Given the description of an element on the screen output the (x, y) to click on. 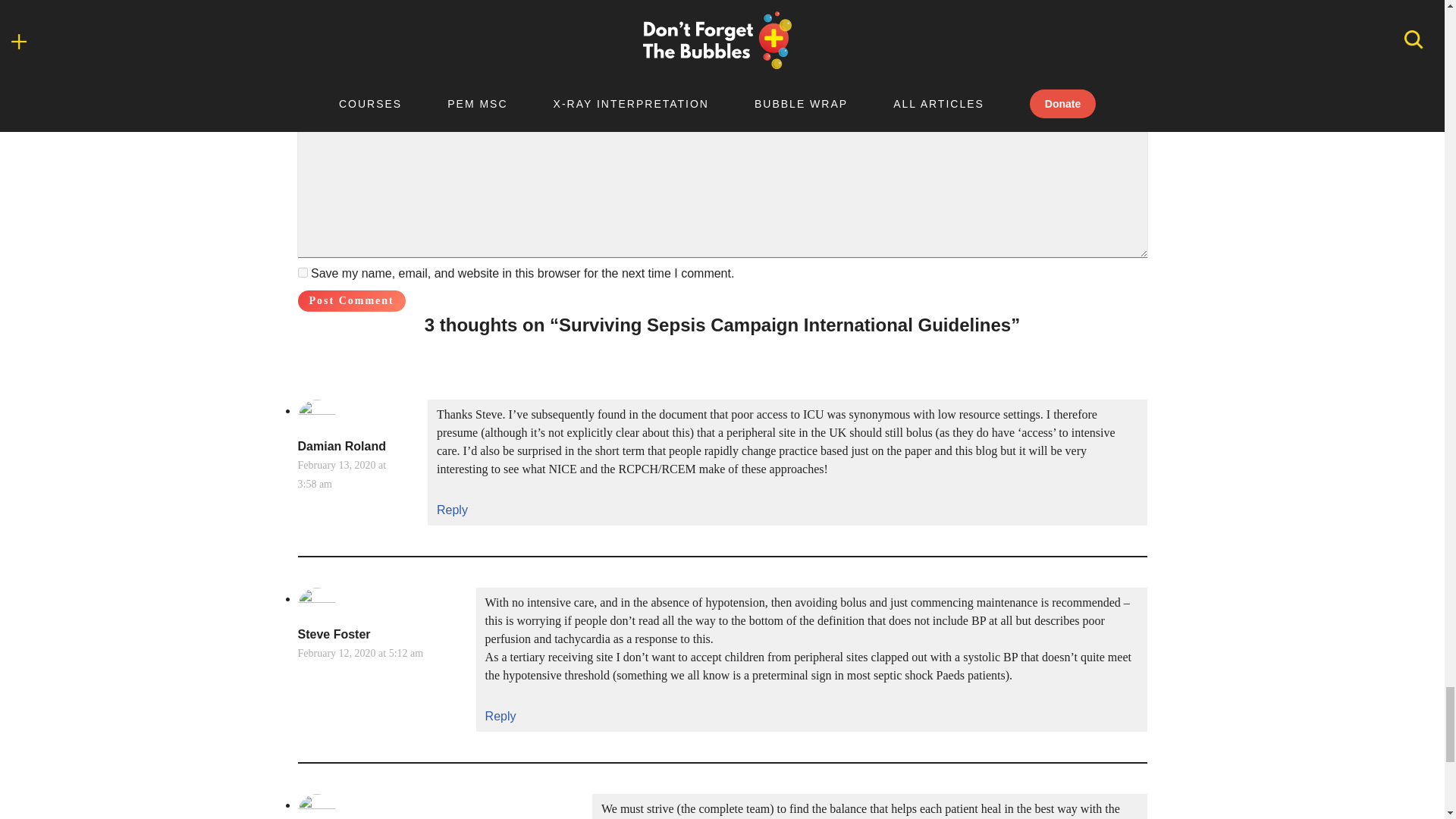
Post Comment (350, 301)
yes (302, 272)
